Given the description of an element on the screen output the (x, y) to click on. 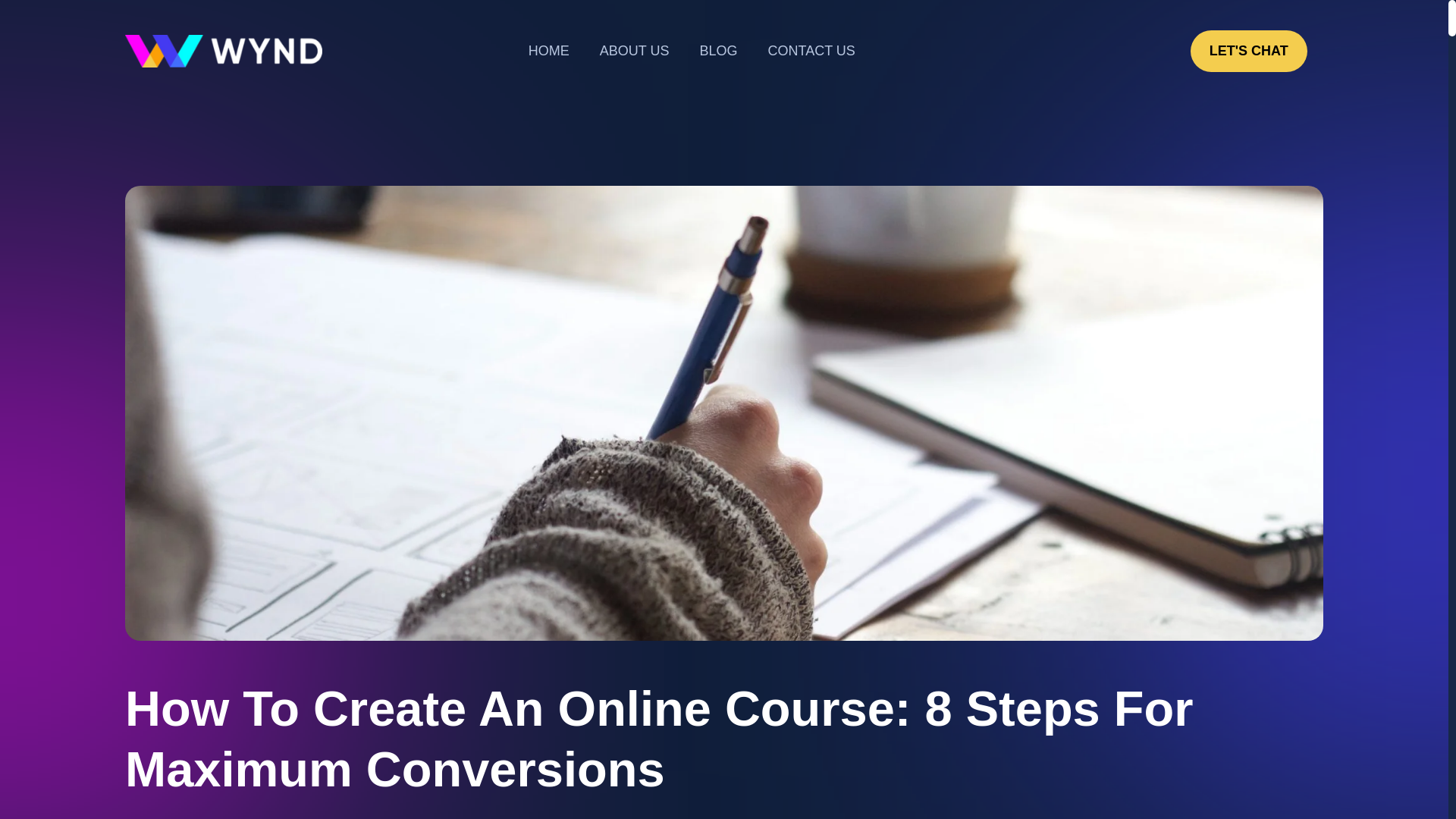
CONTACT US (810, 51)
BLOG (718, 51)
ABOUT US (634, 51)
LET'S CHAT (1249, 51)
HOME (549, 51)
